Given the description of an element on the screen output the (x, y) to click on. 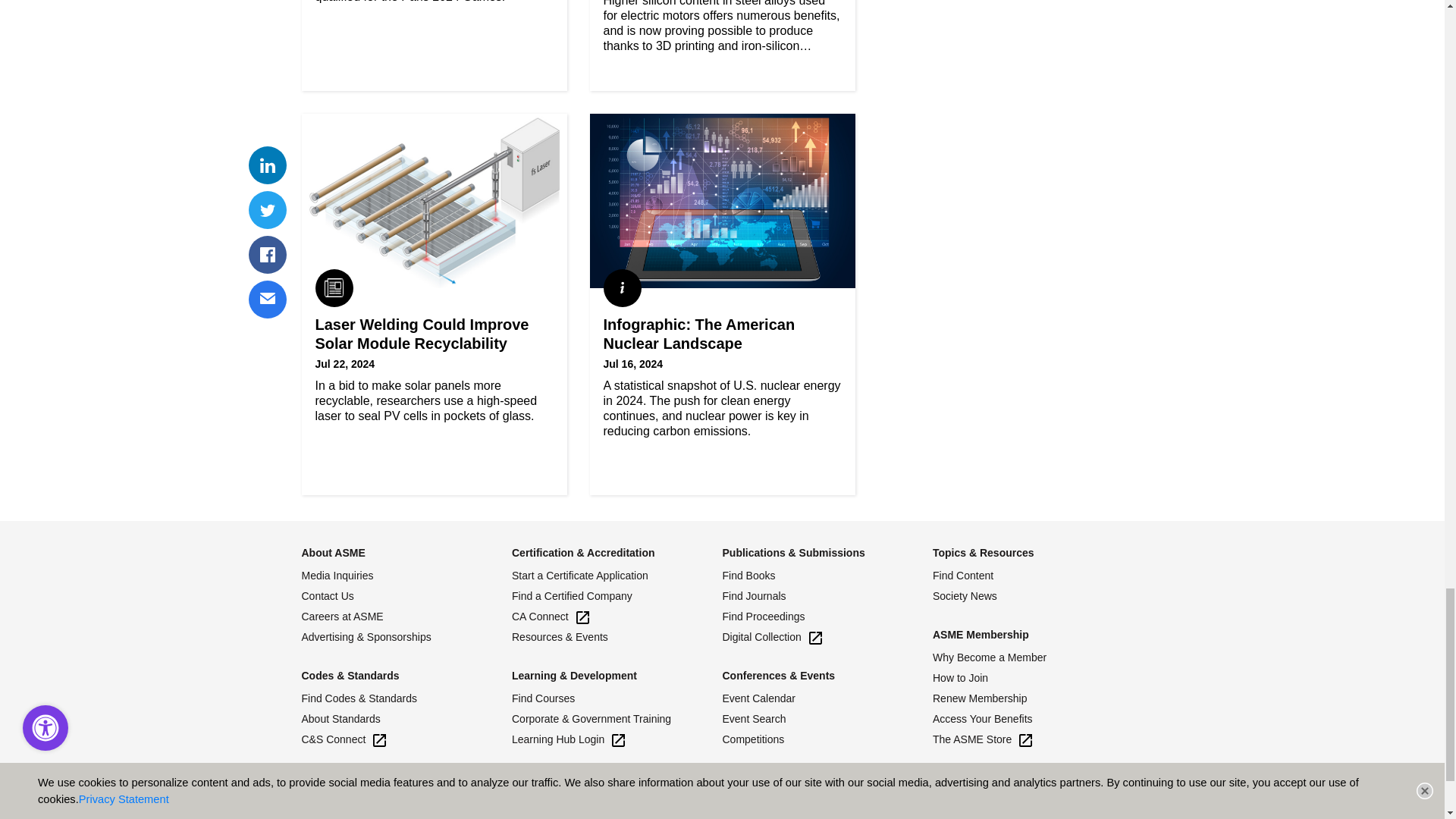
ASME on Facebook (385, 783)
ASME on Twitter (350, 783)
ASME on LinkedIn (315, 783)
ASME on Instagram (420, 783)
